Given the description of an element on the screen output the (x, y) to click on. 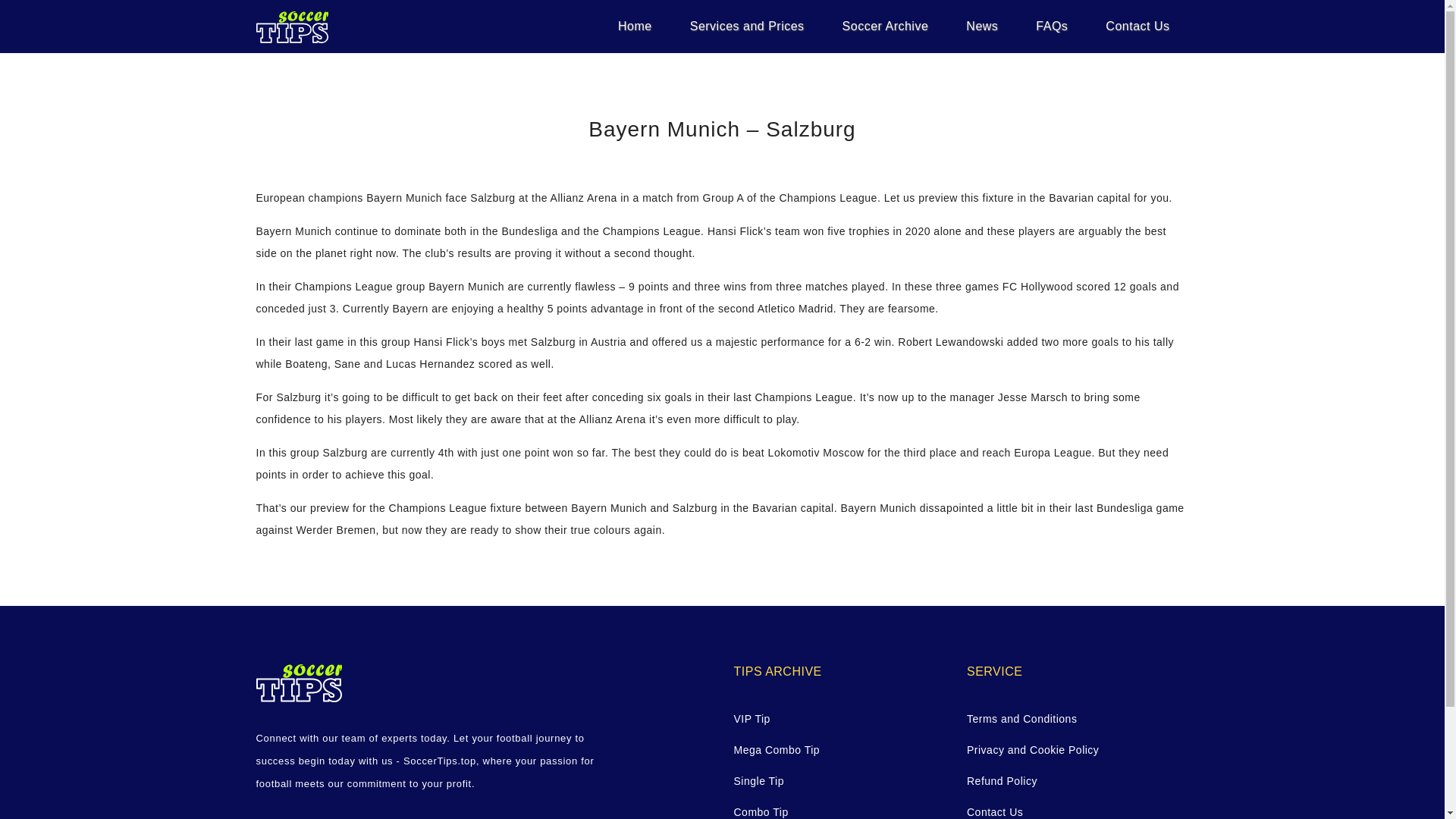
VIP Tip Archive (838, 719)
Refund Policy (1071, 781)
Combo Tip Archive (838, 810)
Single Tip Archive (838, 781)
VIP Tip (838, 719)
Single Tip (838, 781)
News (981, 26)
Privacy and Cookie Policy (1071, 750)
Combo Tip (838, 810)
Soccer Archive (885, 26)
Contact Us (1071, 810)
FAQs (1050, 26)
Contact Us (1136, 26)
Mega Combo Tip (838, 750)
Mega Combo Tip Archive (838, 750)
